Given the description of an element on the screen output the (x, y) to click on. 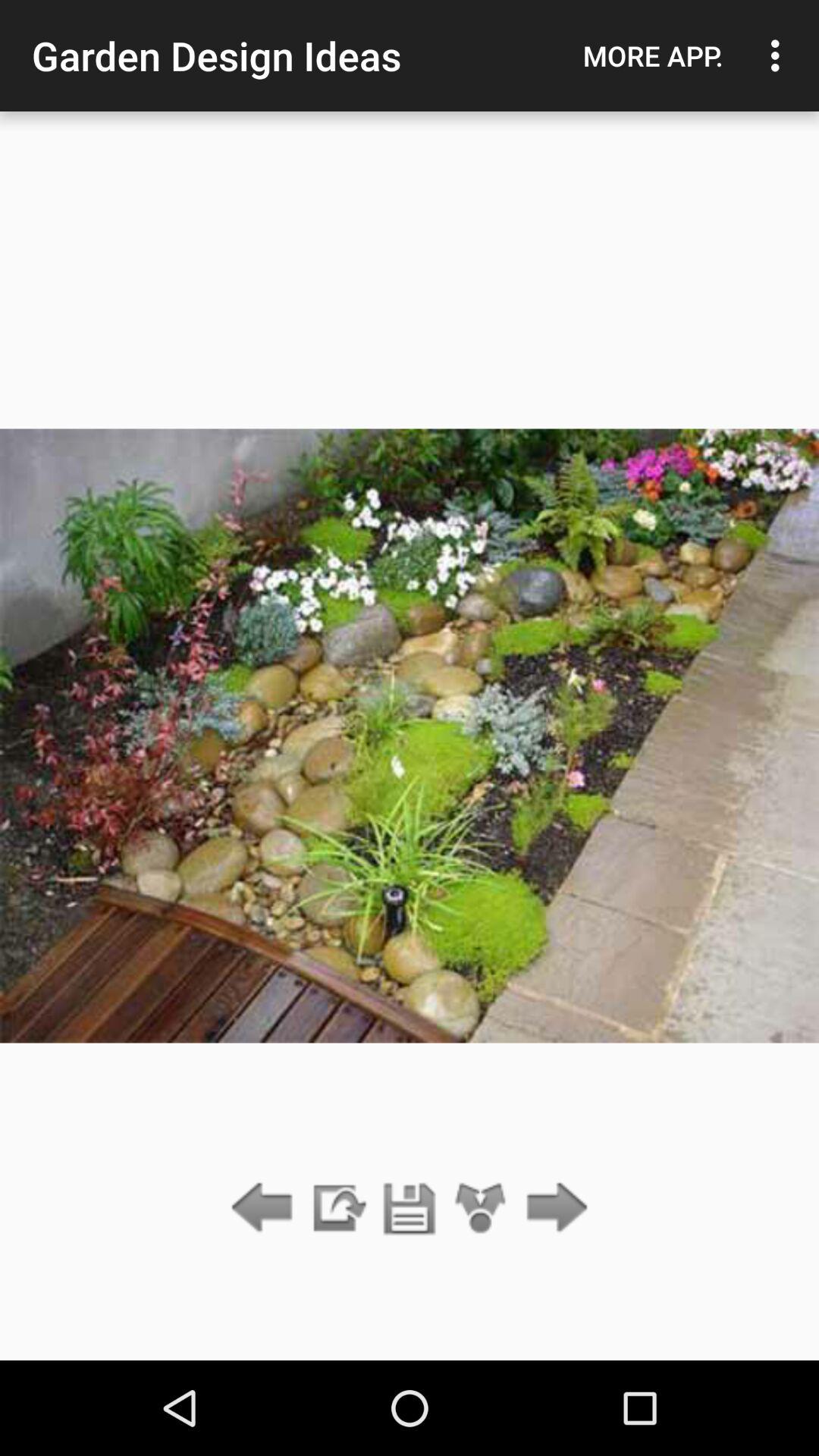
save the image (409, 1208)
